Given the description of an element on the screen output the (x, y) to click on. 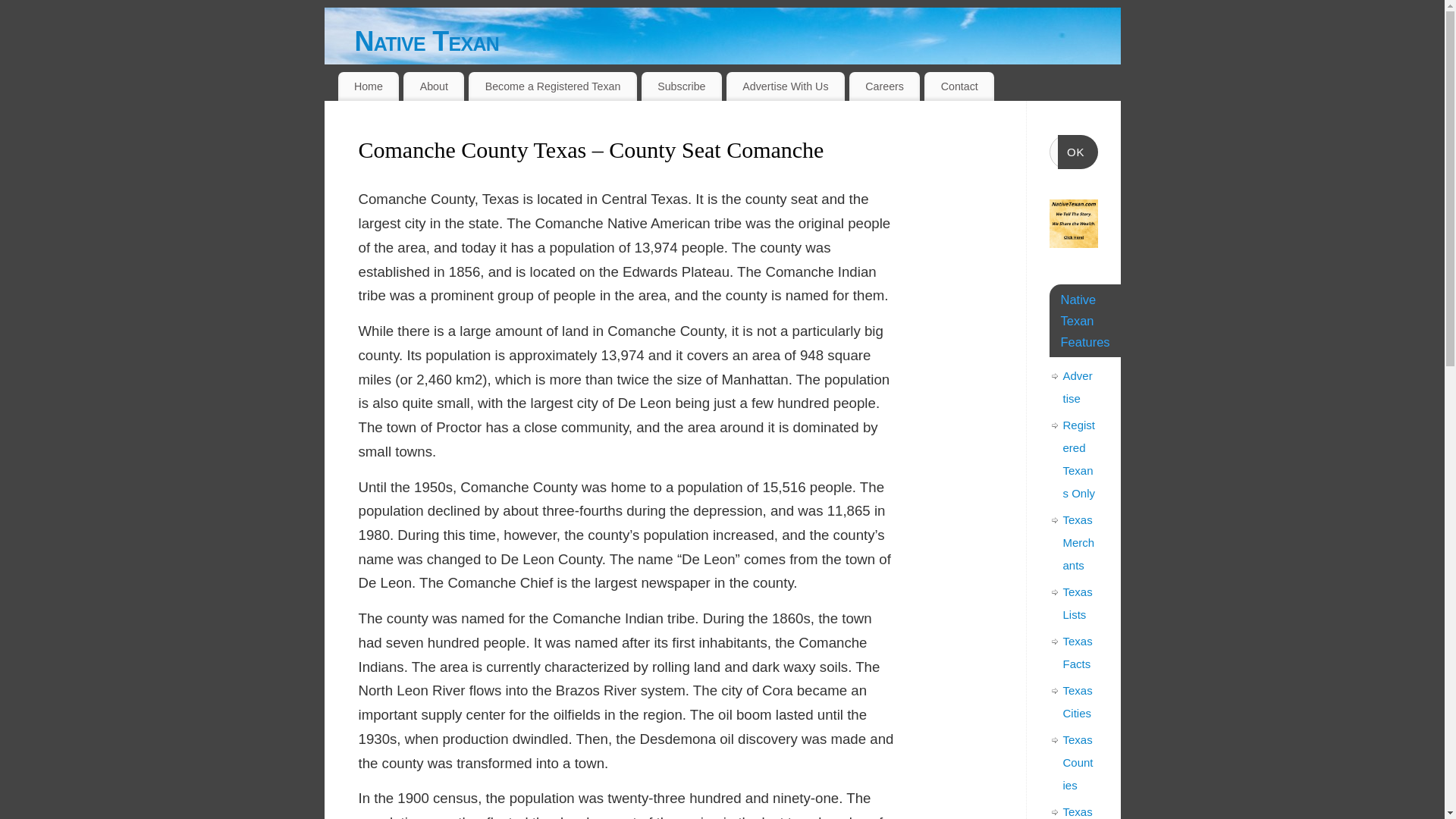
Native Texan (738, 41)
About (433, 86)
Advertise With Us (785, 86)
Careers (884, 86)
Subscribe (682, 86)
Home (367, 86)
Native Texan (738, 41)
Become a Registered Texan (552, 86)
Texas History (1077, 812)
Contact (959, 86)
OK (1077, 151)
